Given the description of an element on the screen output the (x, y) to click on. 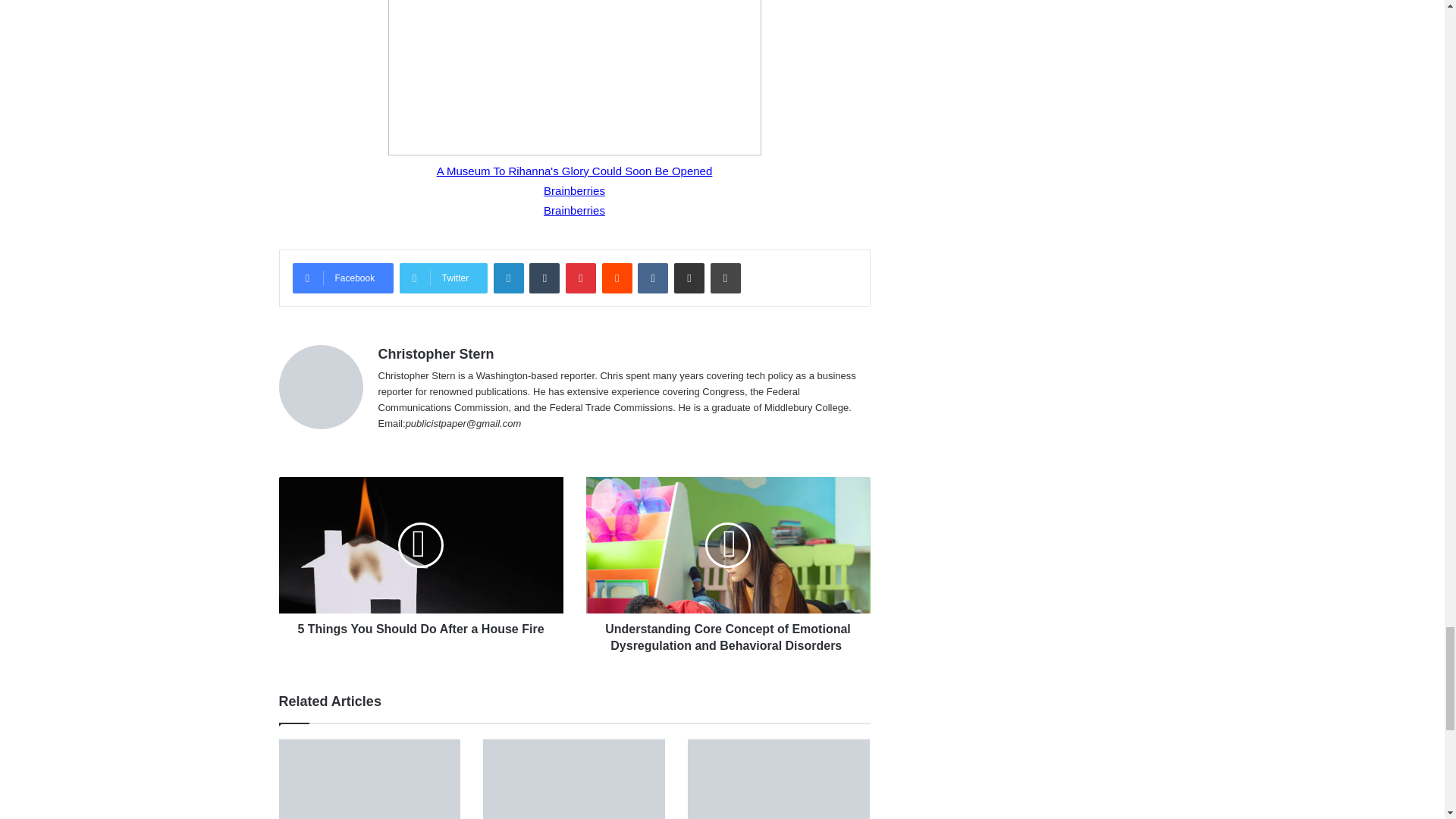
Facebook (343, 277)
Reddit (616, 277)
Pinterest (580, 277)
VKontakte (652, 277)
Twitter (442, 277)
Facebook (343, 277)
Share via Email (689, 277)
Print (725, 277)
Tumblr (544, 277)
